Given the description of an element on the screen output the (x, y) to click on. 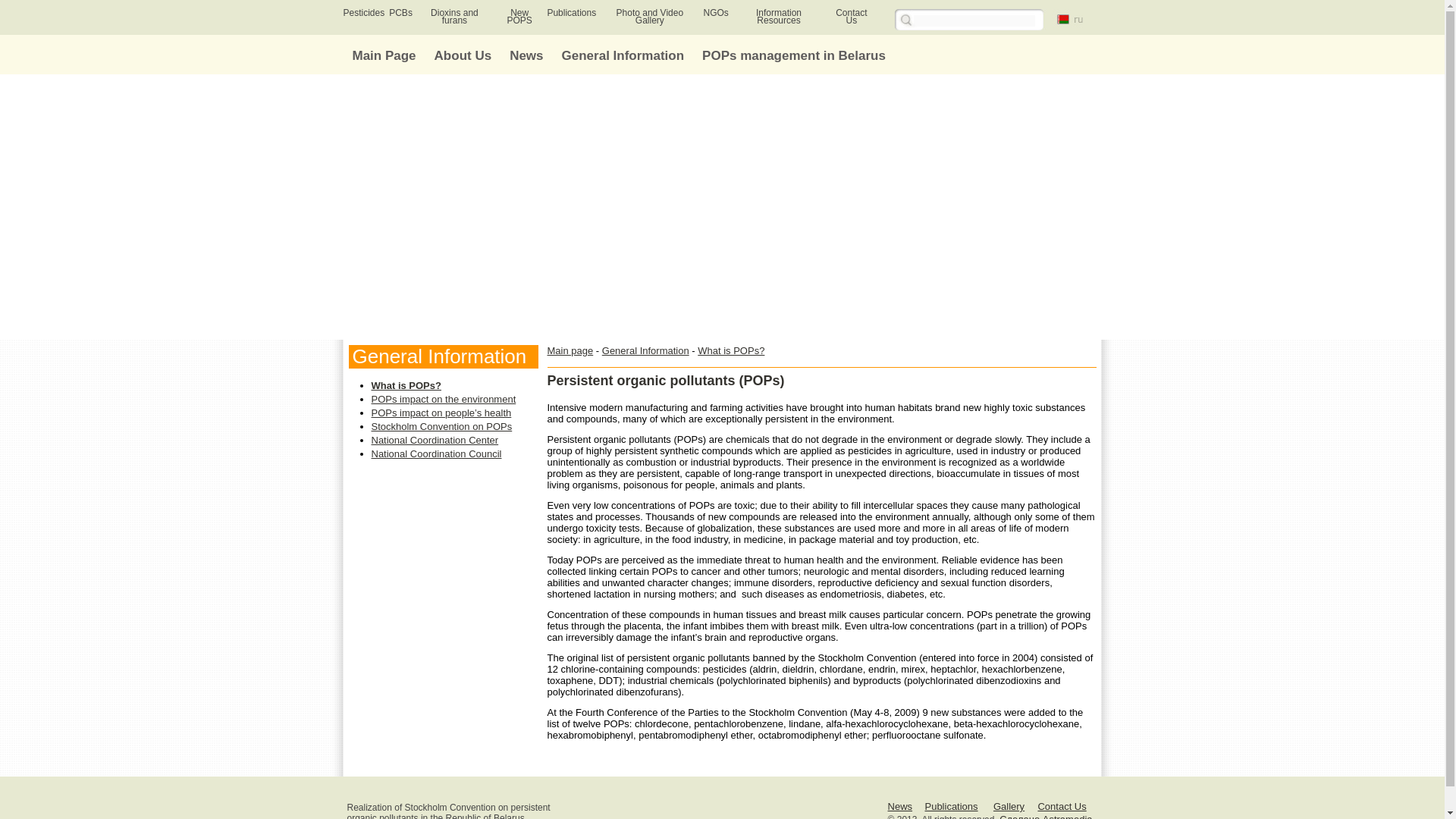
Stockholm Convention on POPs (441, 426)
Gallery (1008, 806)
POPs impact on the environment (443, 398)
Main page (570, 350)
National Coordination Council (436, 453)
National Coordination Center (435, 439)
Contact Us (1061, 806)
Photo and Video Gallery (649, 16)
General Information (623, 55)
POPs management in Belarus (794, 55)
